Given the description of an element on the screen output the (x, y) to click on. 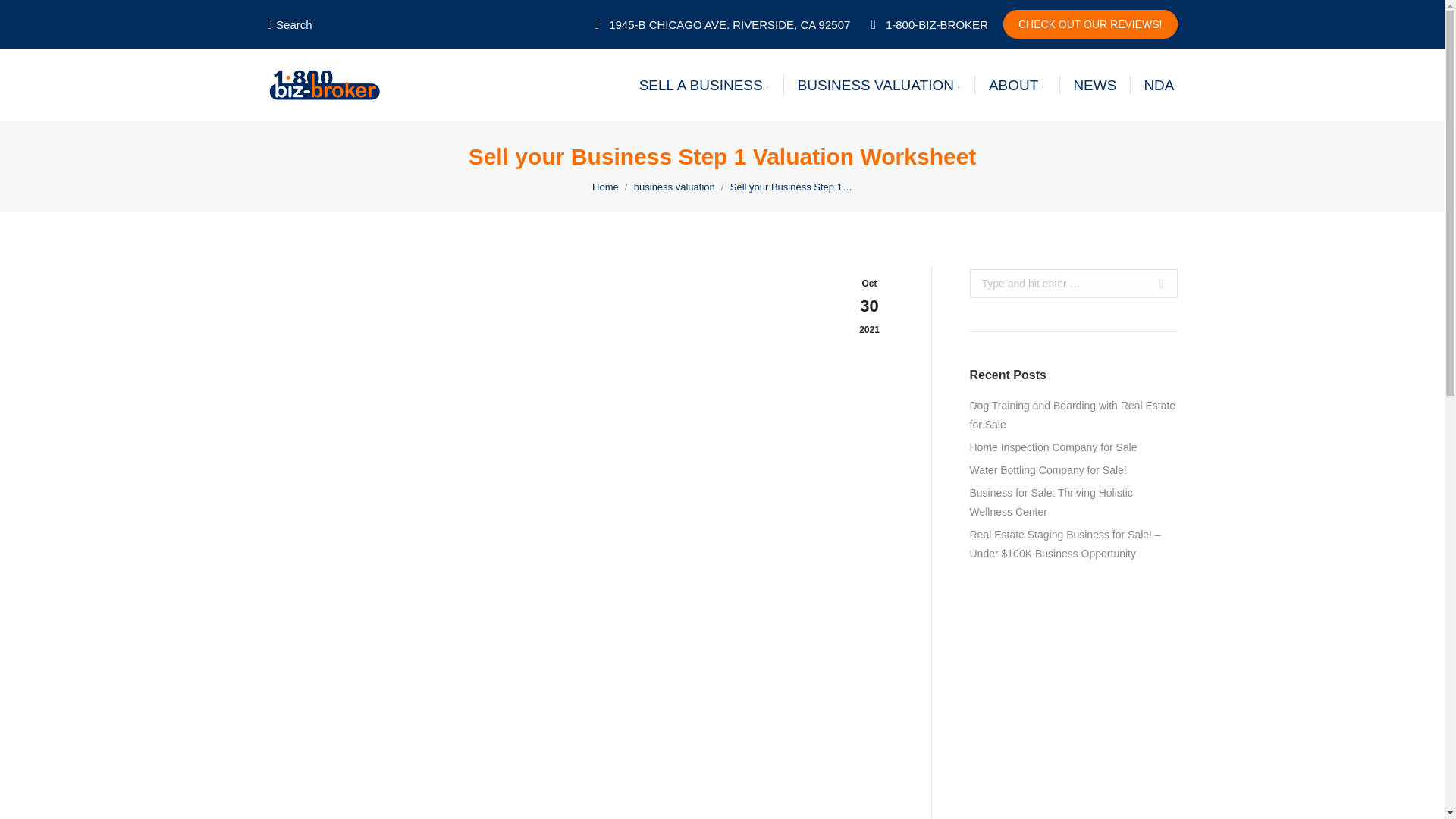
Search (288, 24)
ABOUT (1016, 84)
Go! (1155, 283)
BUSINESS VALUATION (878, 84)
CHECK OUT OUR REVIEWS! (1090, 23)
YouTube video player (478, 735)
NEWS (1094, 84)
Go! (1155, 283)
SELL A BUSINESS (704, 84)
1-800-BIZ-BROKER (926, 24)
